Given the description of an element on the screen output the (x, y) to click on. 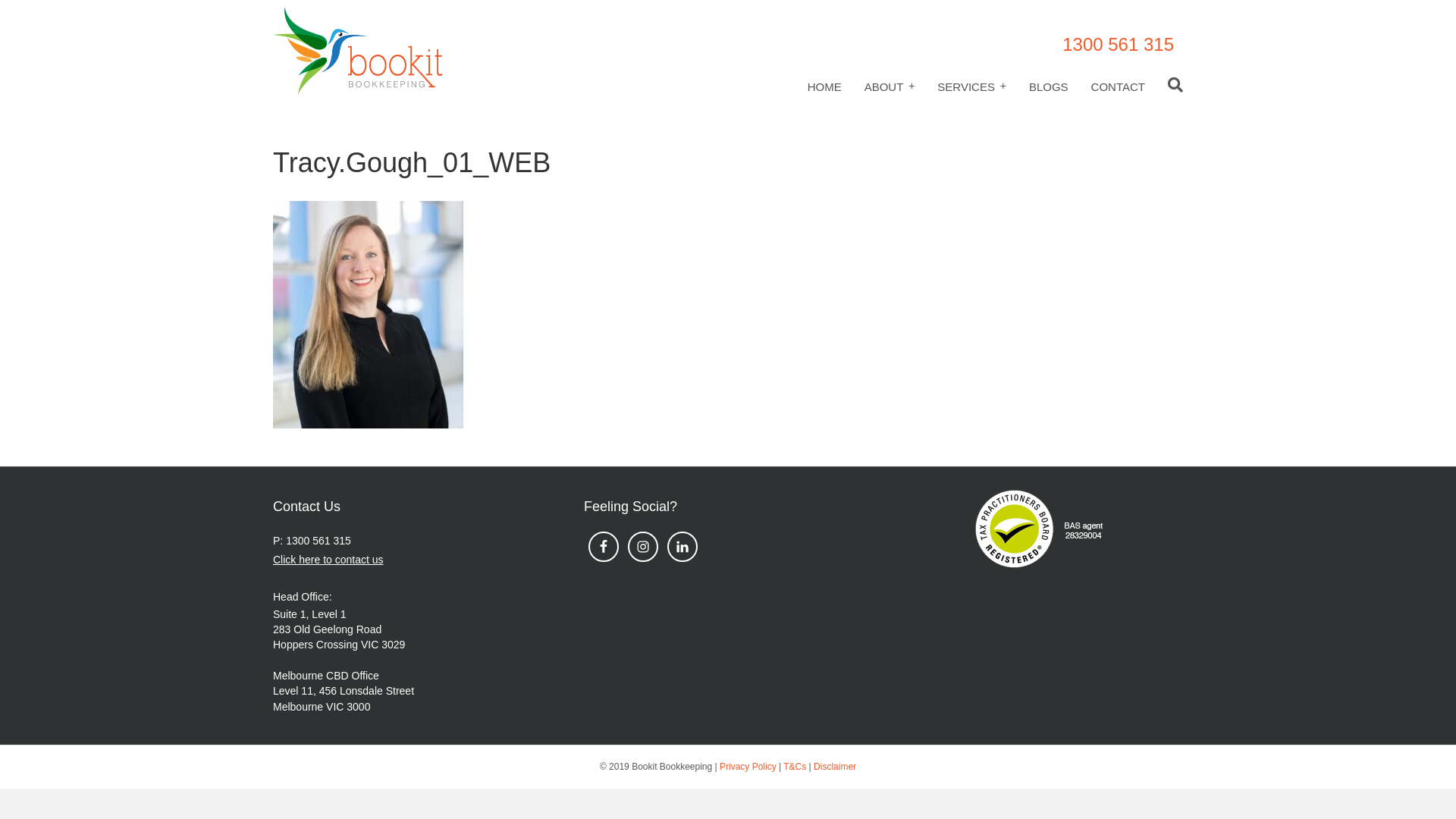
Click here to contact us Element type: text (328, 559)
T&Cs Element type: text (794, 766)
CONTACT Element type: text (1117, 86)
Privacy Policy Element type: text (747, 766)
HOME Element type: text (824, 86)
SERVICES Element type: text (971, 86)
1300 561 315 Element type: text (1117, 44)
ABOUT Element type: text (889, 86)
Disclaimer Element type: text (834, 766)
BLOGS Element type: text (1048, 86)
1300 561 315 Element type: text (318, 540)
